Given the description of an element on the screen output the (x, y) to click on. 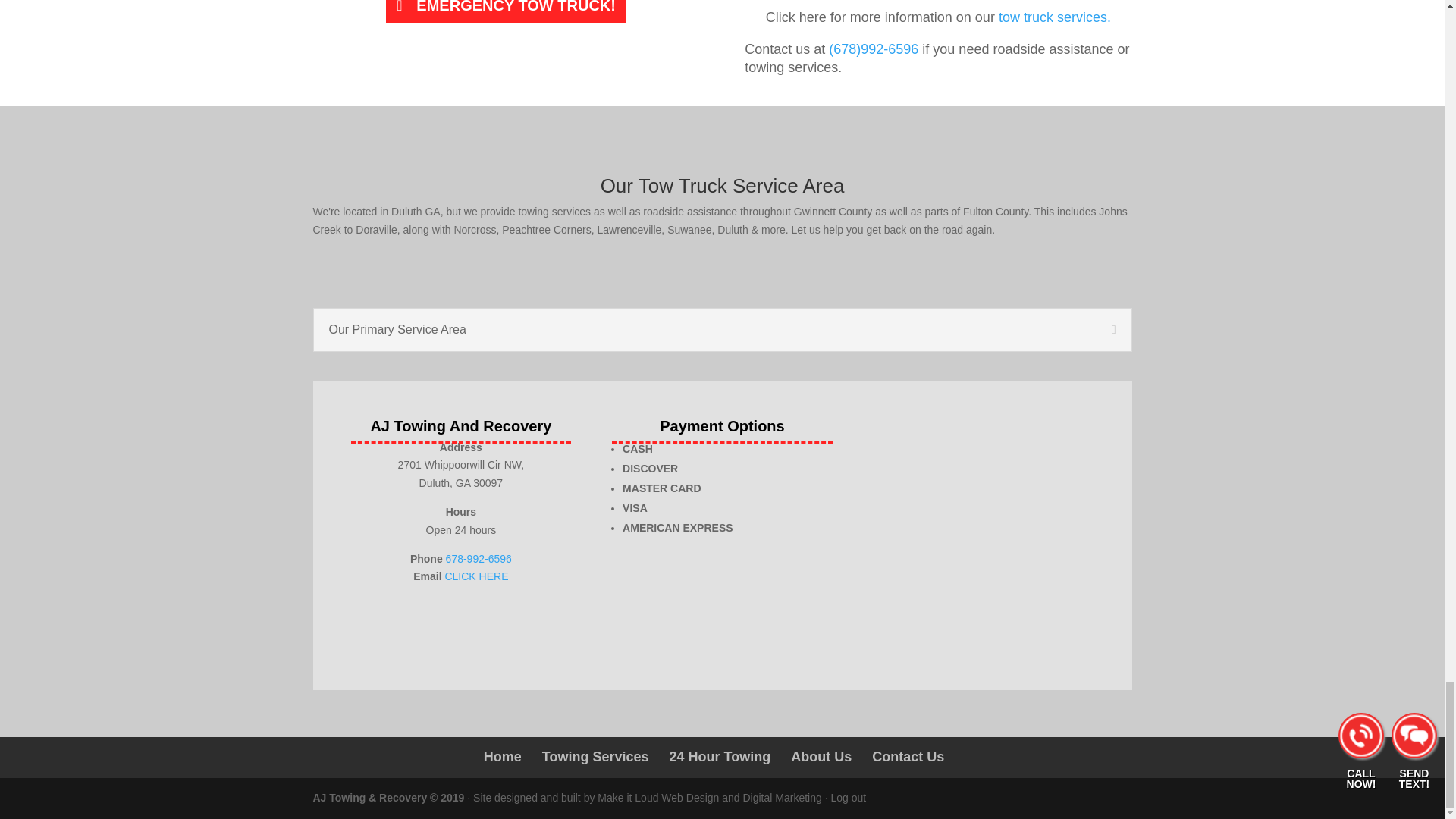
CLICK HERE (476, 576)
tow truck services. (1054, 17)
EMERGENCY TOW TRUCK! (505, 13)
Home (502, 756)
678-992-6596 (478, 558)
